Given the description of an element on the screen output the (x, y) to click on. 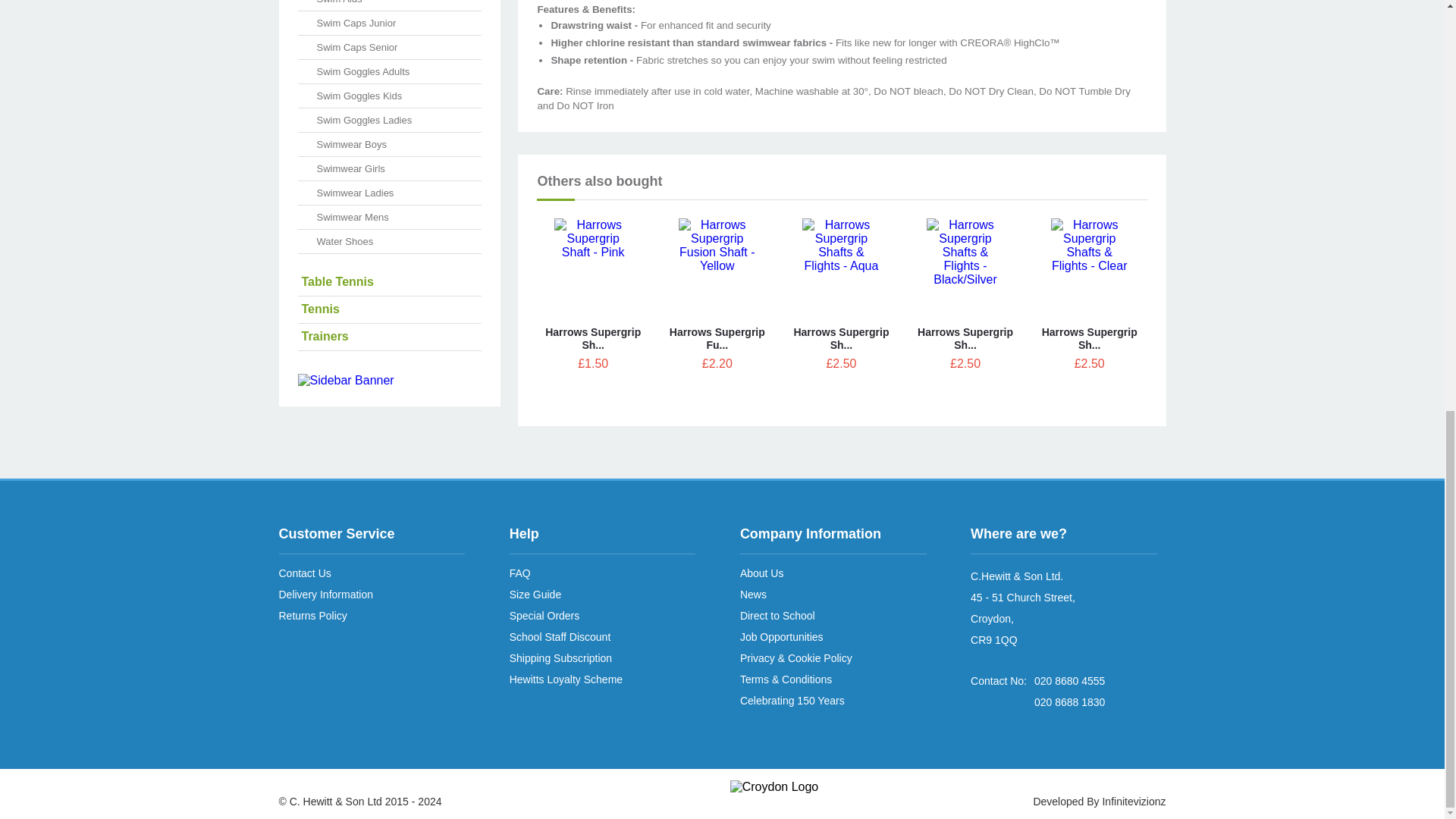
Harrows Supergrip Shaft - Pink (593, 338)
Harrows Supergrip Shaft - Pink (593, 270)
Harrows Supergrip Fusion Shaft - Yellow (716, 338)
Harrows Supergrip Fusion Shaft - Yellow (716, 270)
